Given the description of an element on the screen output the (x, y) to click on. 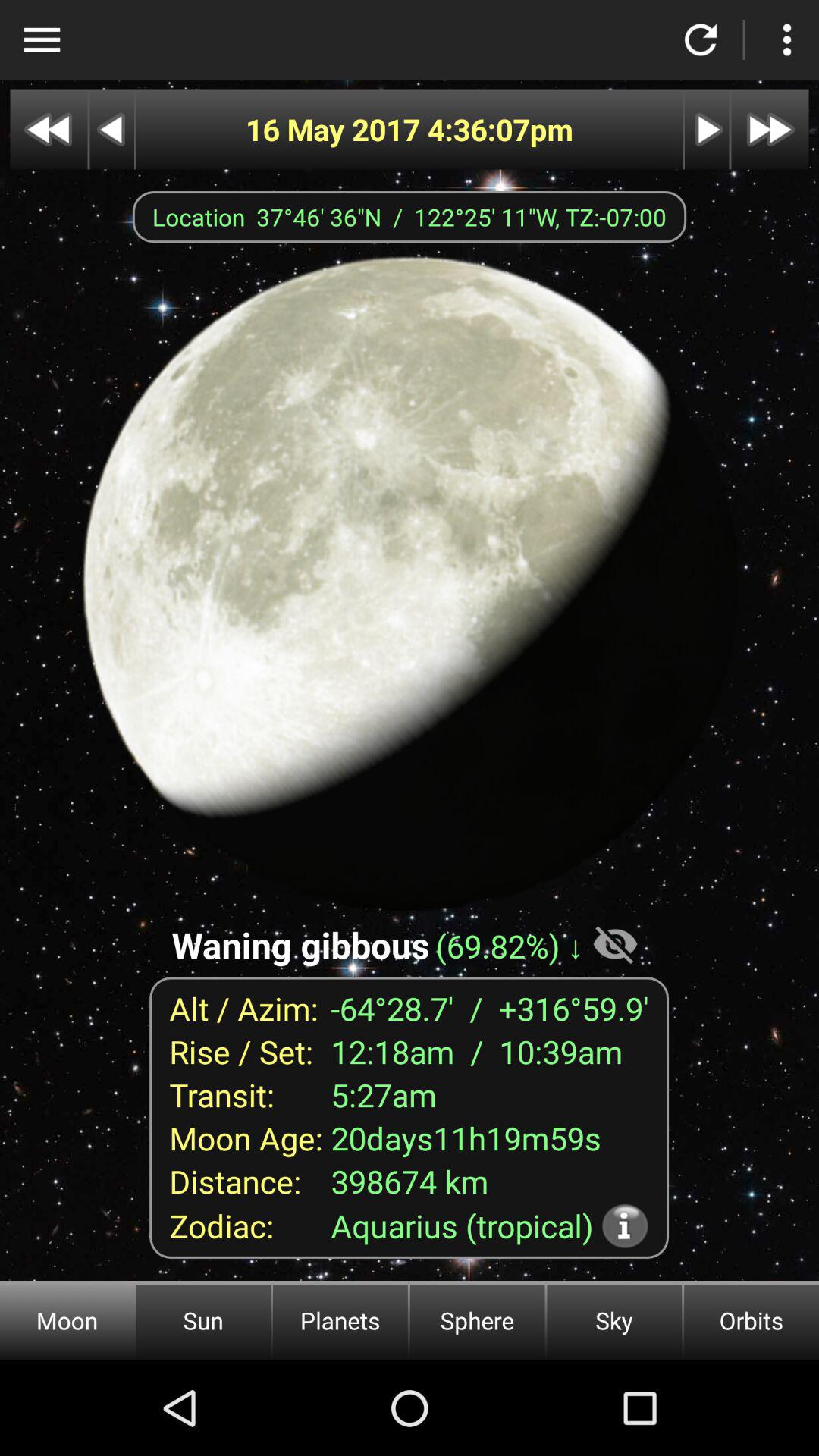
more options (787, 39)
